Given the description of an element on the screen output the (x, y) to click on. 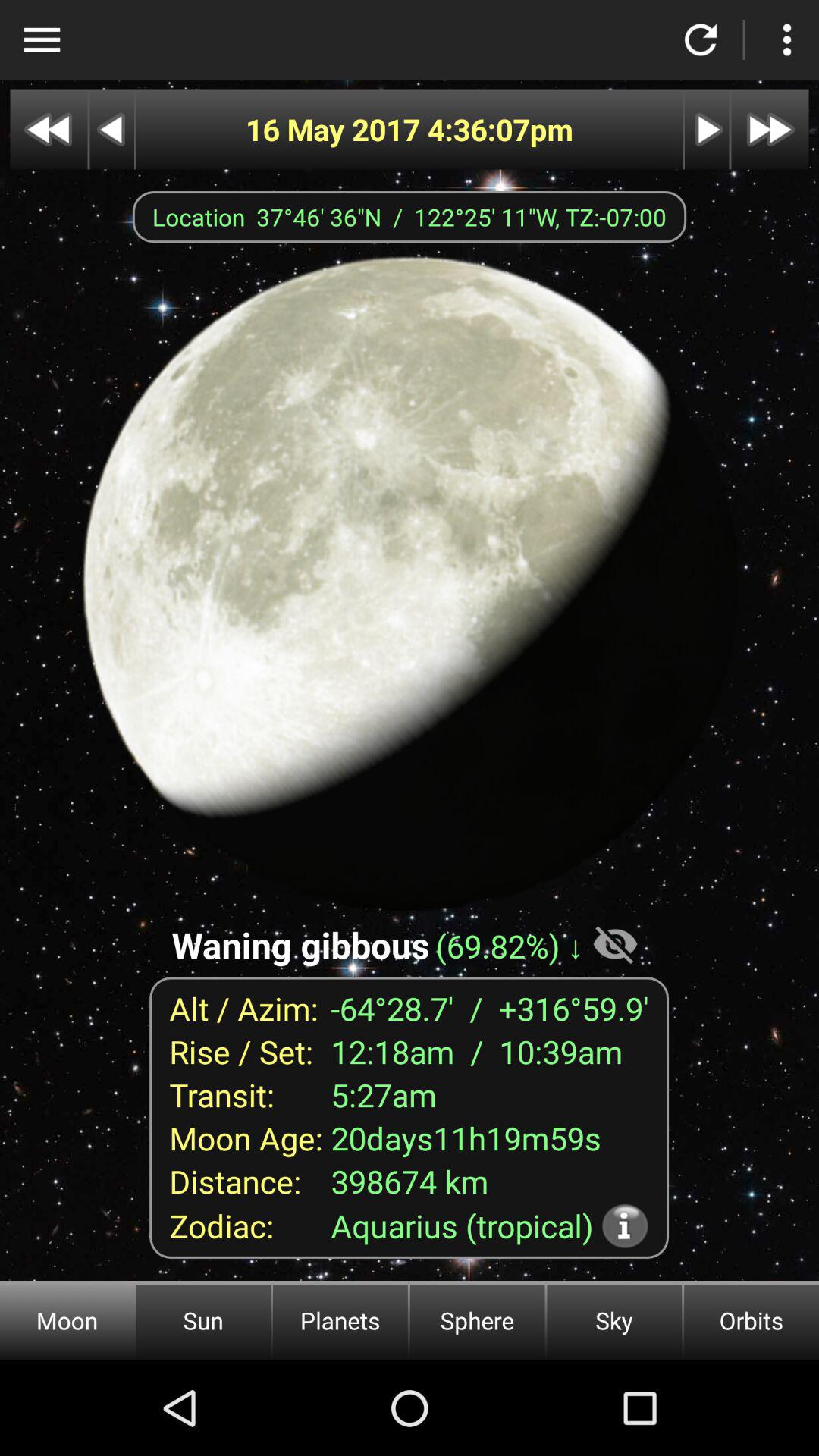
more options (787, 39)
